Given the description of an element on the screen output the (x, y) to click on. 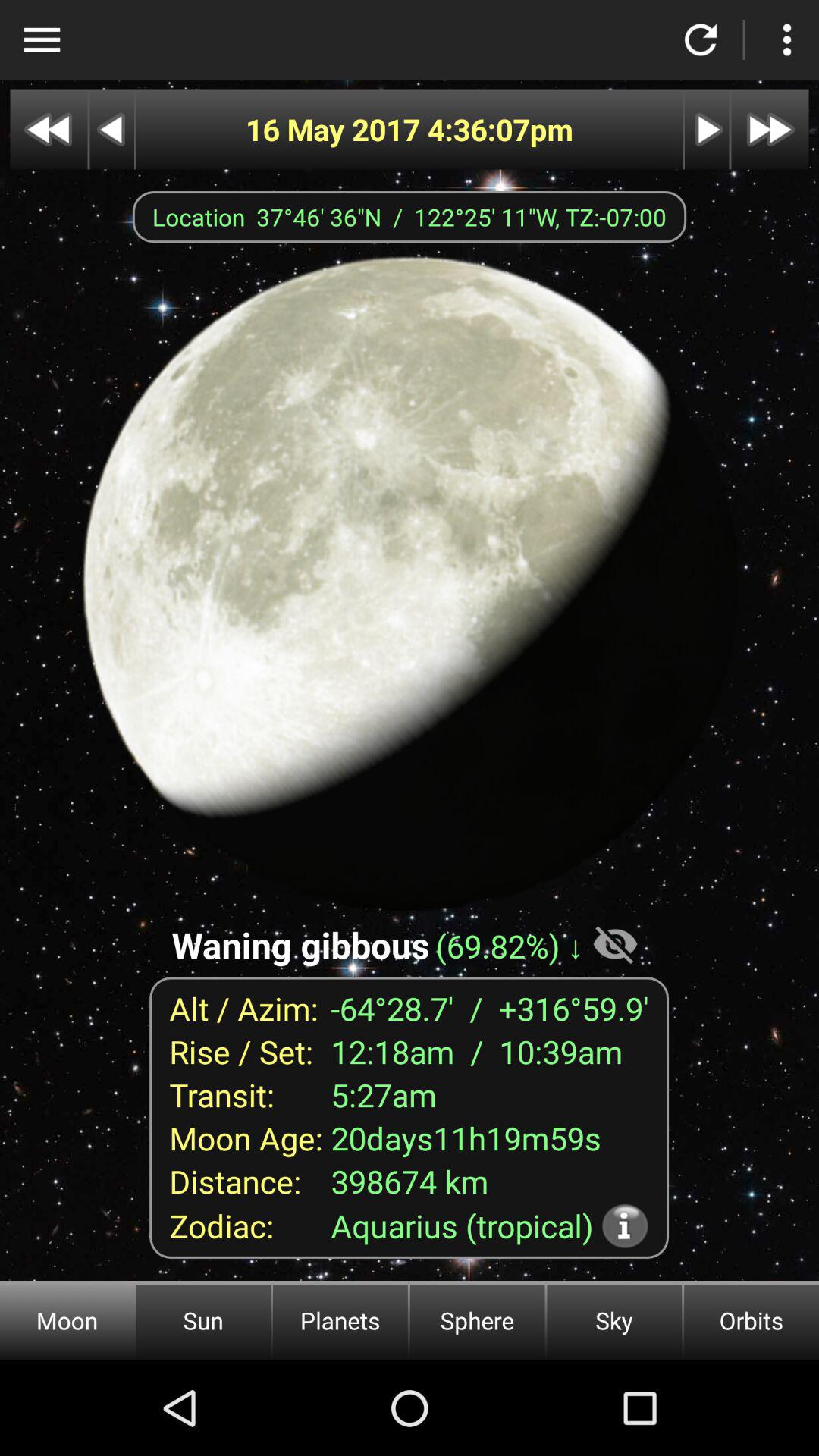
more options (787, 39)
